Given the description of an element on the screen output the (x, y) to click on. 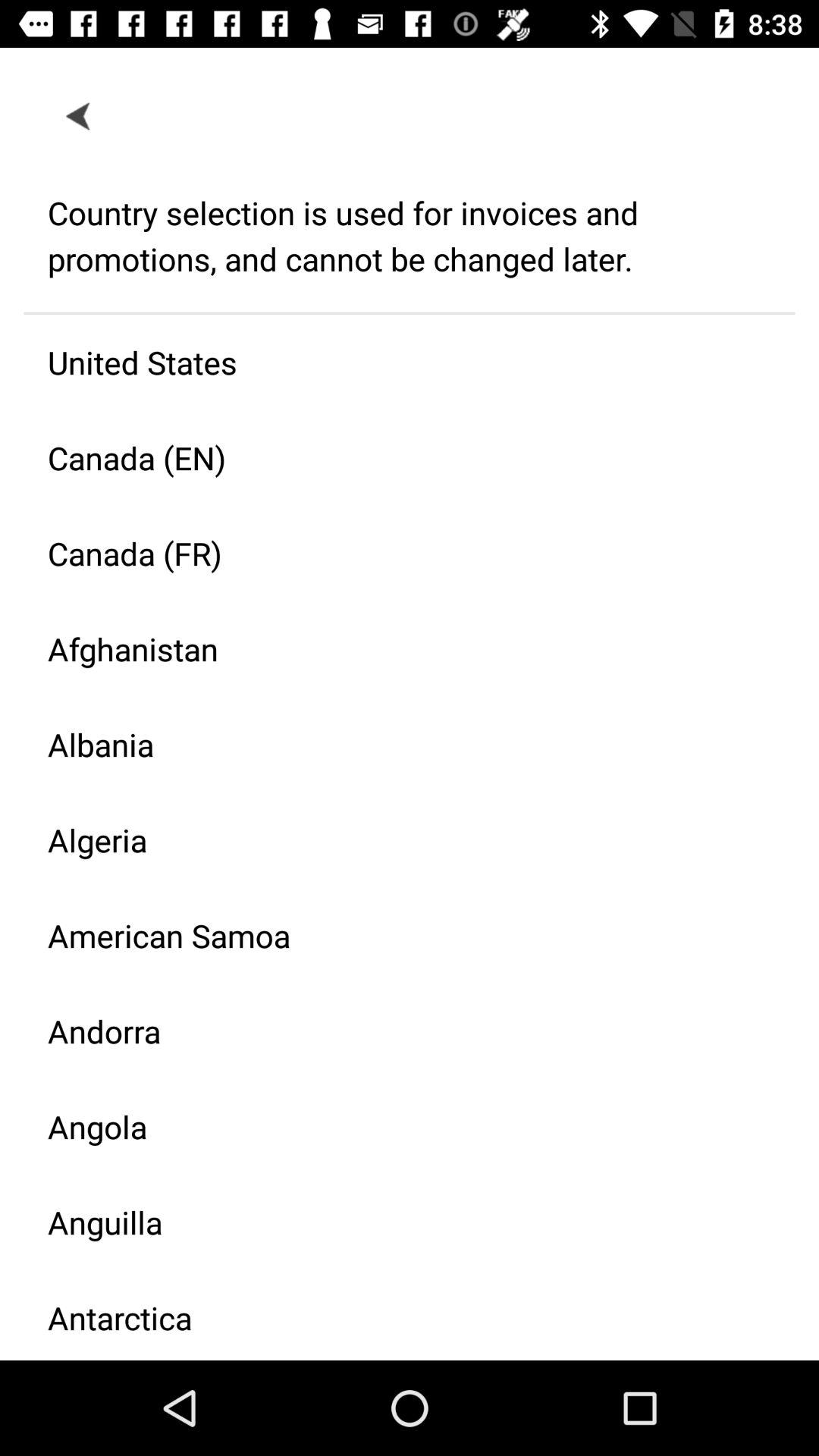
open albania icon (397, 744)
